Given the description of an element on the screen output the (x, y) to click on. 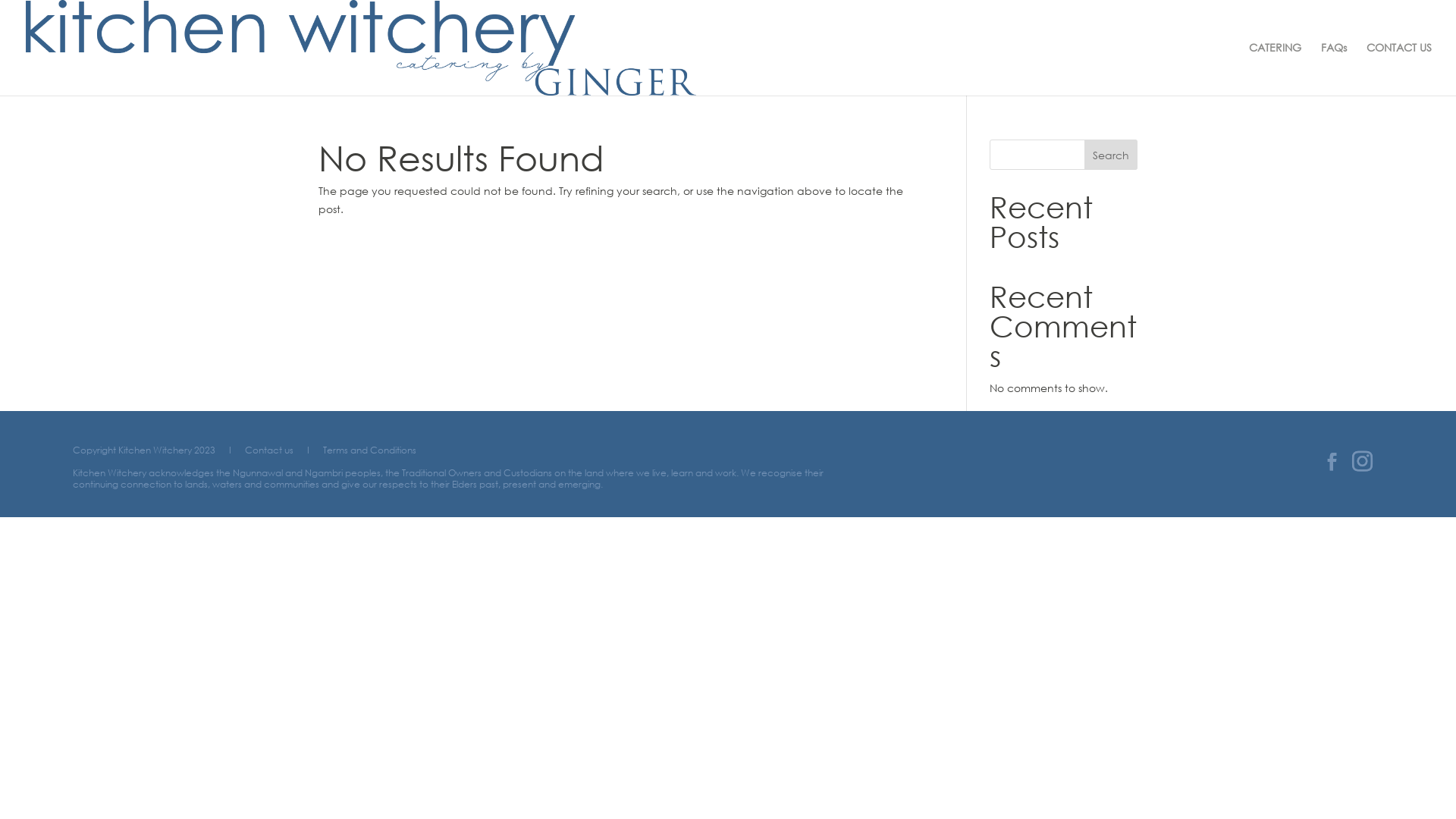
FAQs Element type: text (1333, 68)
Follow on Instagram Element type: hover (1362, 461)
Follow on Facebook Element type: hover (1331, 461)
CONTACT US Element type: text (1398, 68)
Search Element type: text (1110, 154)
CATERING Element type: text (1274, 68)
Terms and Conditions Element type: text (369, 449)
Contact us    Element type: text (271, 449)
